Given the description of an element on the screen output the (x, y) to click on. 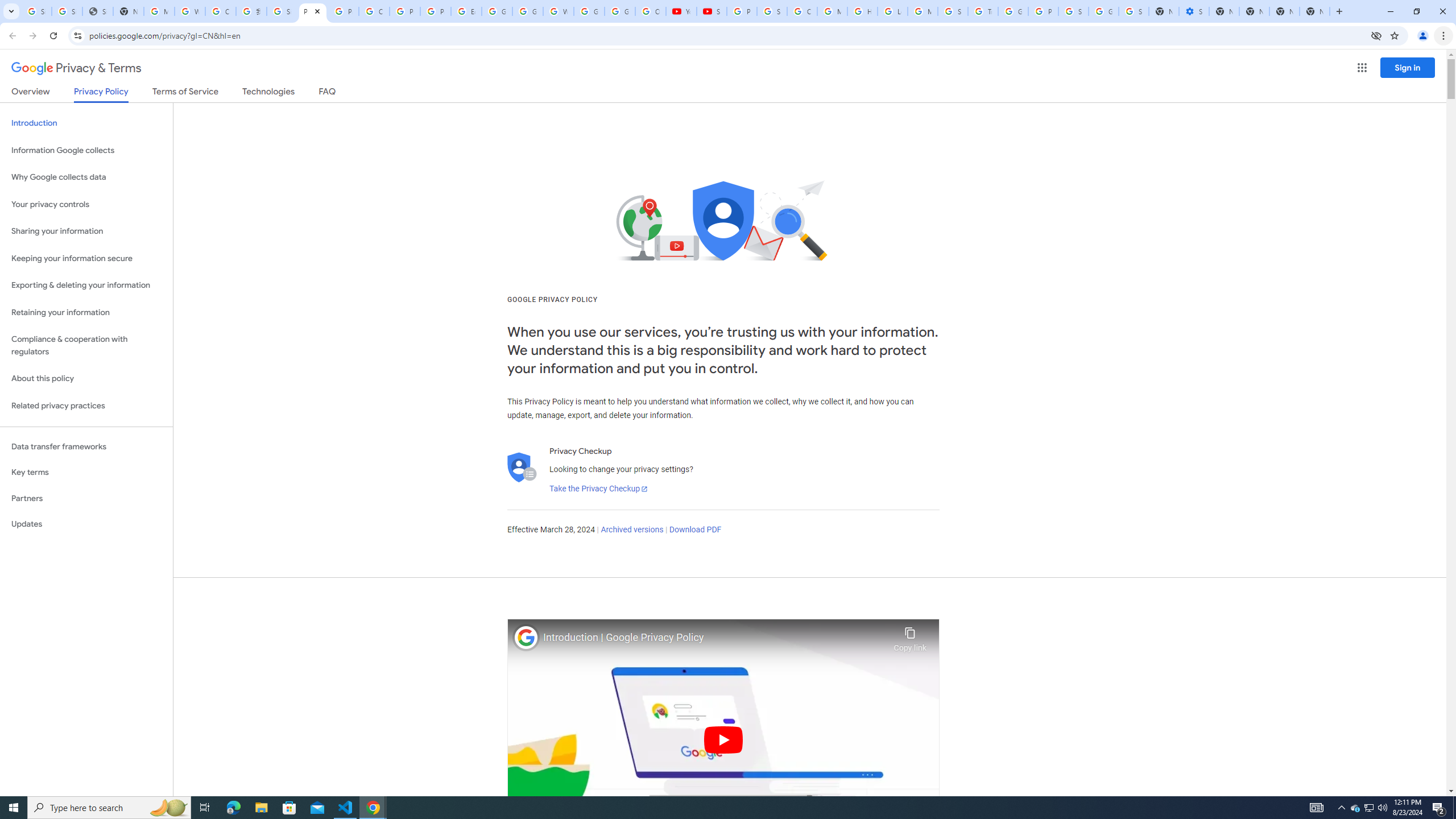
Compliance & cooperation with regulators (86, 345)
Overview (30, 93)
Sign in - Google Accounts (1072, 11)
Create your Google Account (373, 11)
Partners (86, 497)
Privacy & Terms (76, 68)
FAQ (327, 93)
Google Ads - Sign in (1012, 11)
